Given the description of an element on the screen output the (x, y) to click on. 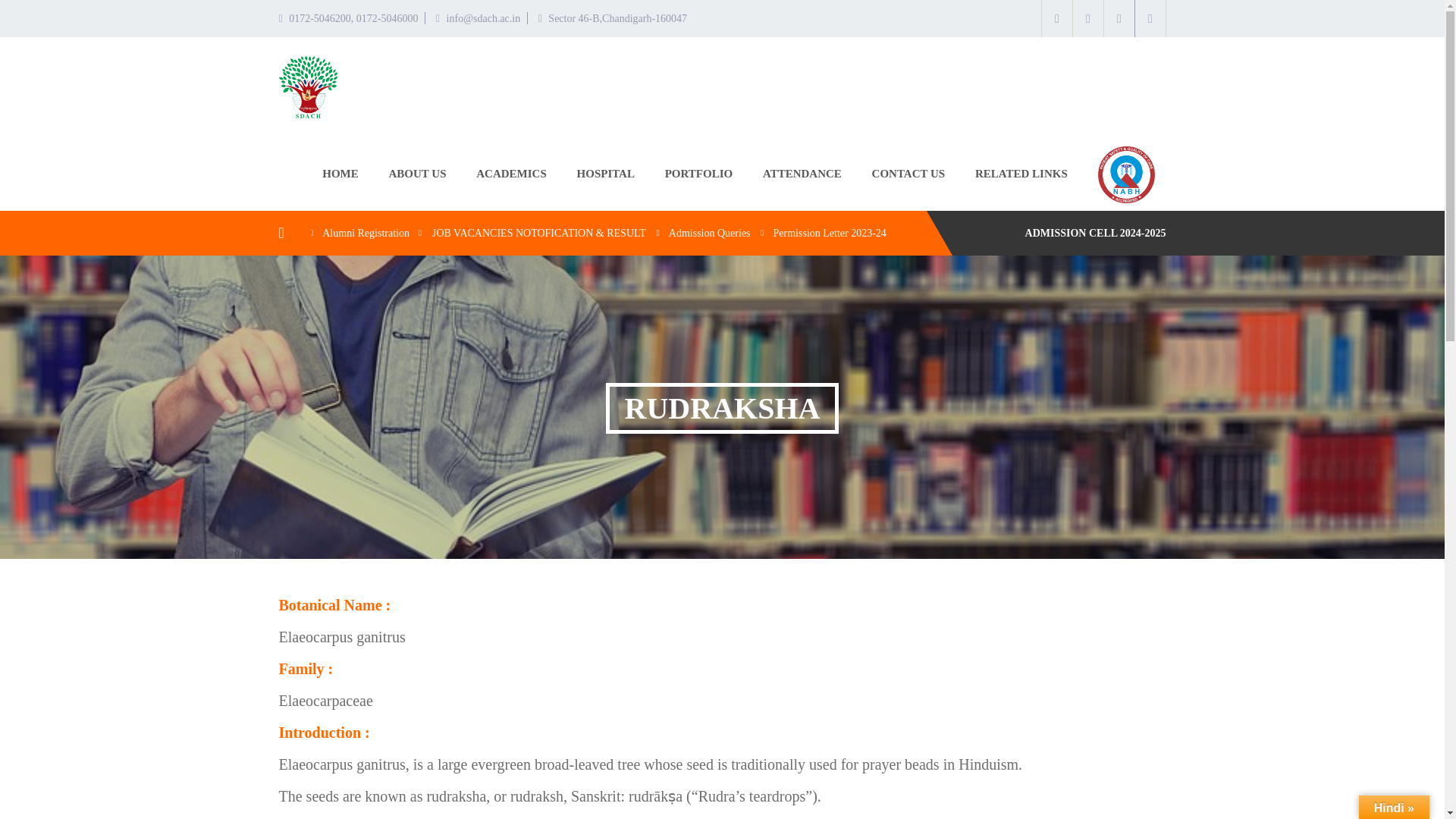
ACADEMICS (510, 173)
HOME (340, 173)
ABOUT US (417, 173)
